Given the description of an element on the screen output the (x, y) to click on. 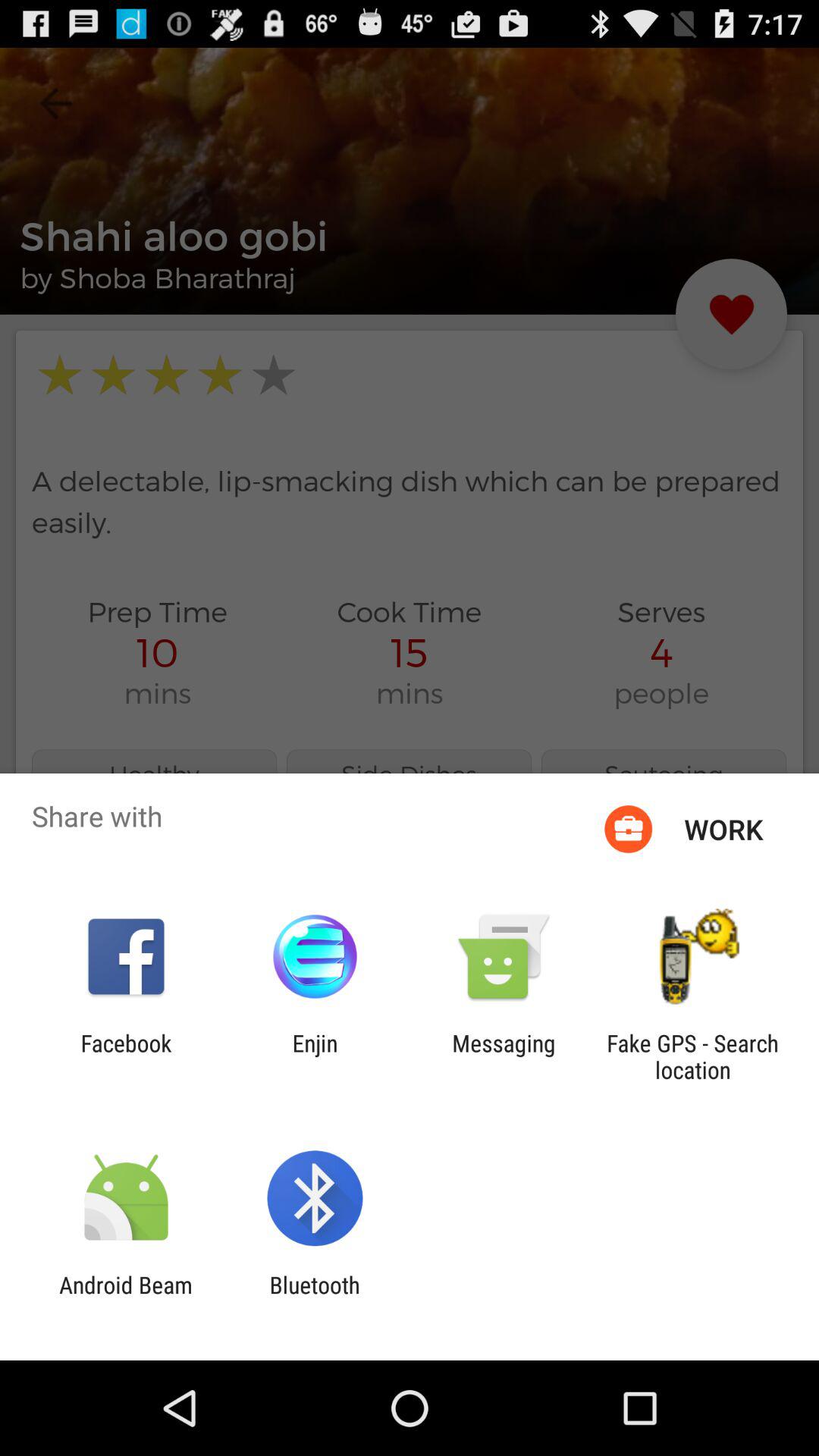
jump until messaging item (503, 1056)
